Given the description of an element on the screen output the (x, y) to click on. 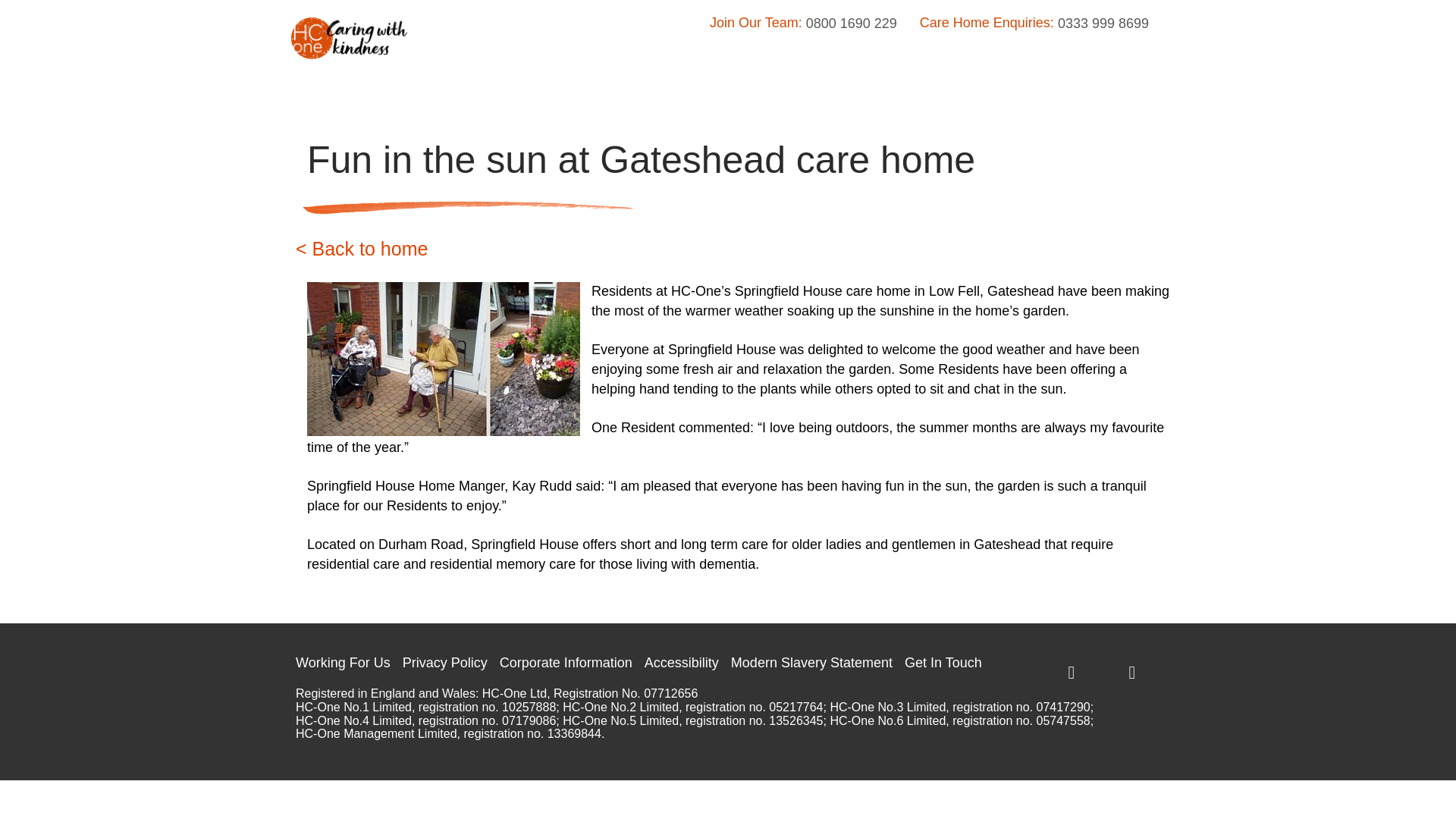
Working For Us (342, 662)
Facebook (1129, 668)
0800 1690 229 (851, 23)
0333 999 8699 (1103, 23)
Corporate Information (565, 662)
Get In Touch (942, 662)
Twitter (1069, 668)
Accessibility (682, 662)
Back to springfield-house (361, 248)
Join Our Team: (756, 22)
